Given the description of an element on the screen output the (x, y) to click on. 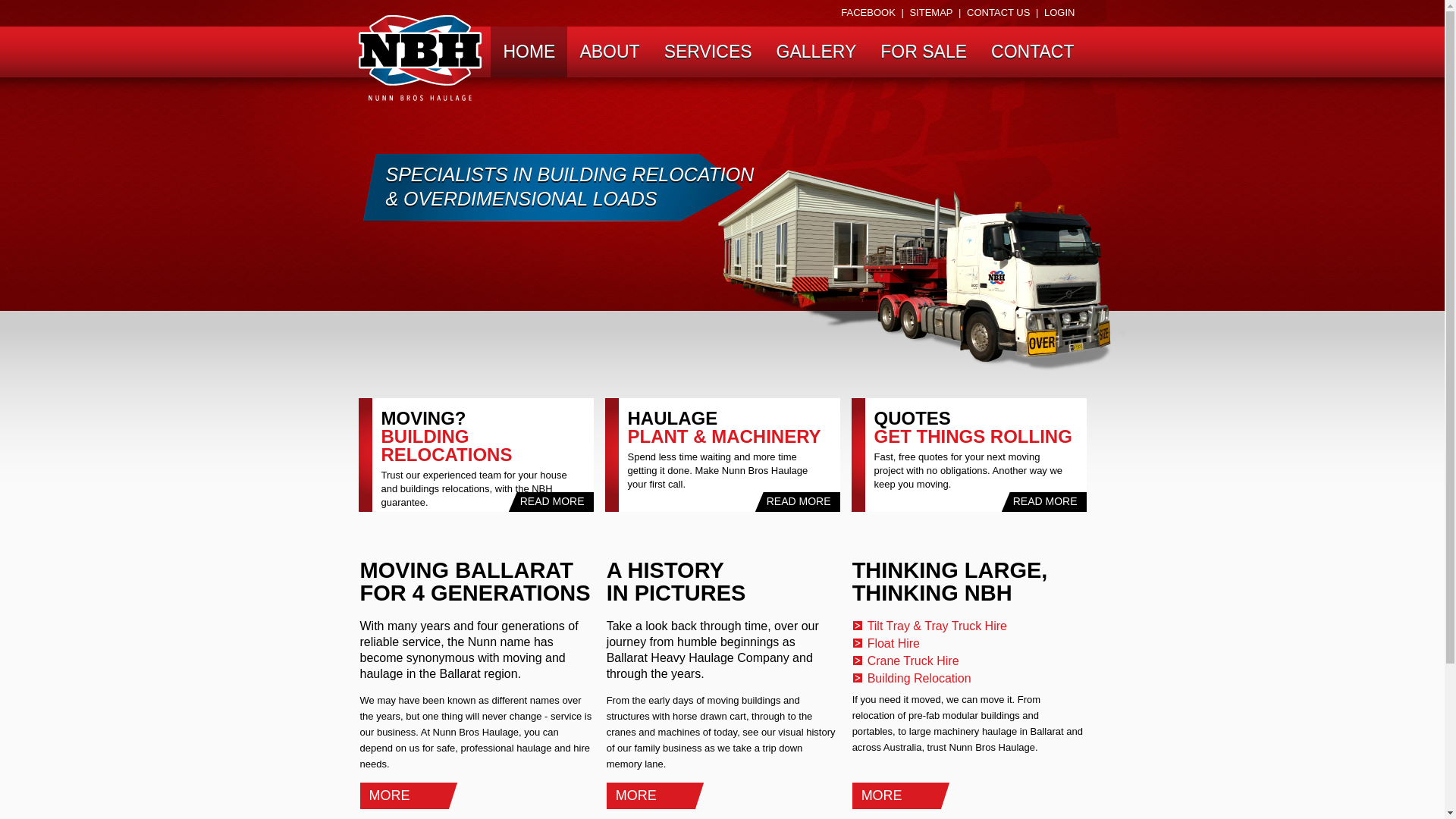
READ MORE Element type: text (550, 501)
READ MORE Element type: text (1043, 501)
GALLERY Element type: text (816, 51)
MORE Element type: text (659, 795)
HOME Element type: text (528, 51)
CONTACT Element type: text (1032, 51)
CONTACT US Element type: text (997, 12)
MORE Element type: text (412, 795)
Building Relocation Element type: text (919, 677)
SERVICES Element type: text (708, 51)
Float Hire Element type: text (893, 643)
MORE Element type: text (905, 795)
LOGIN Element type: text (1059, 12)
SITEMAP Element type: text (930, 12)
FACEBOOK Element type: text (867, 12)
Tilt Tray & Tray Truck Hire Element type: text (937, 625)
FOR SALE Element type: text (923, 51)
READ MORE Element type: text (797, 501)
ABOUT Element type: text (609, 51)
Crane Truck Hire Element type: text (913, 660)
